Given the description of an element on the screen output the (x, y) to click on. 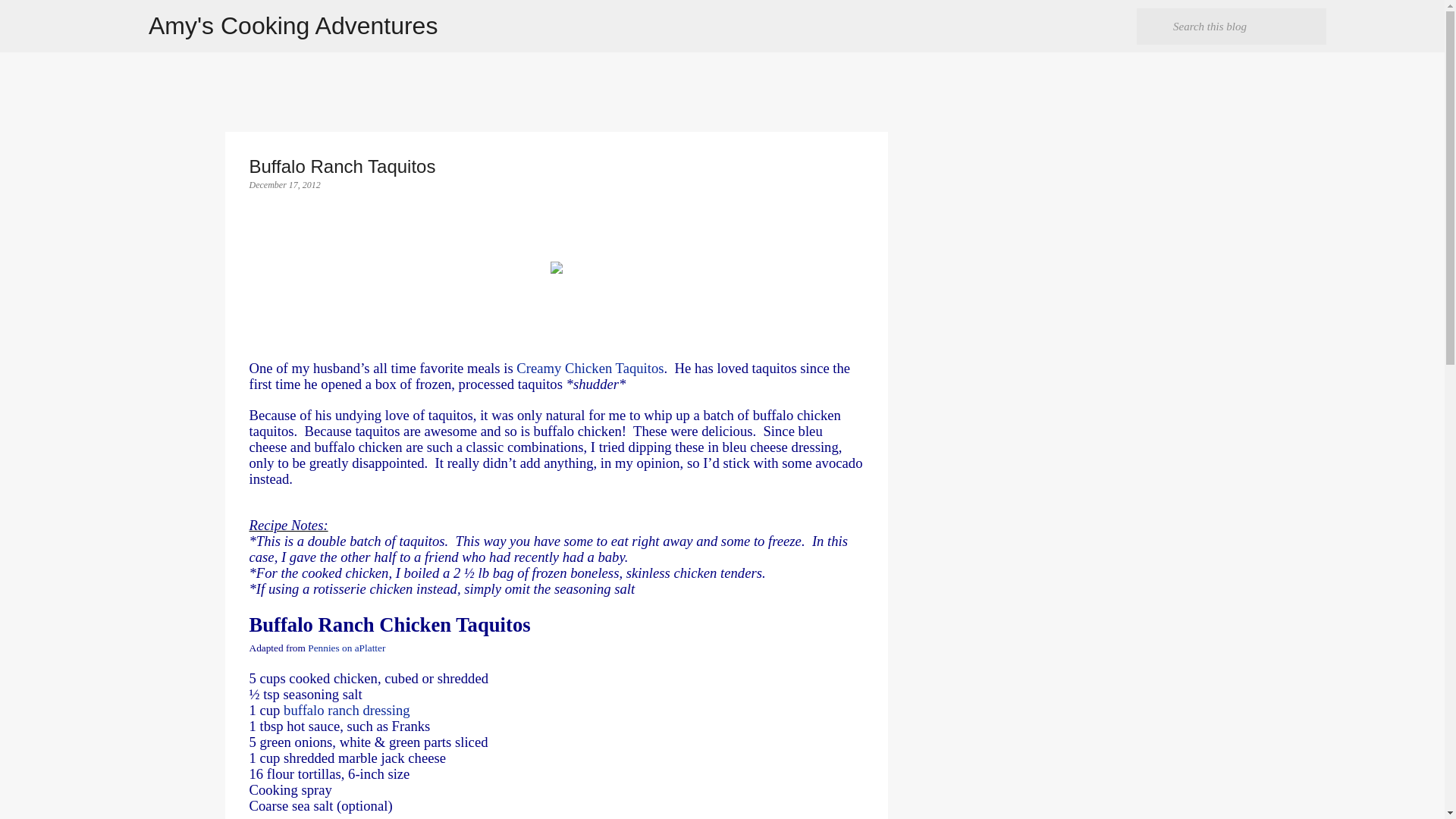
Pennies on aPlatter (346, 647)
permanent link (284, 184)
Amy's Cooking Adventures (293, 25)
Creamy Chicken Taquitos (588, 367)
December 17, 2012 (284, 184)
buffalo ranch dressing (346, 709)
